Given the description of an element on the screen output the (x, y) to click on. 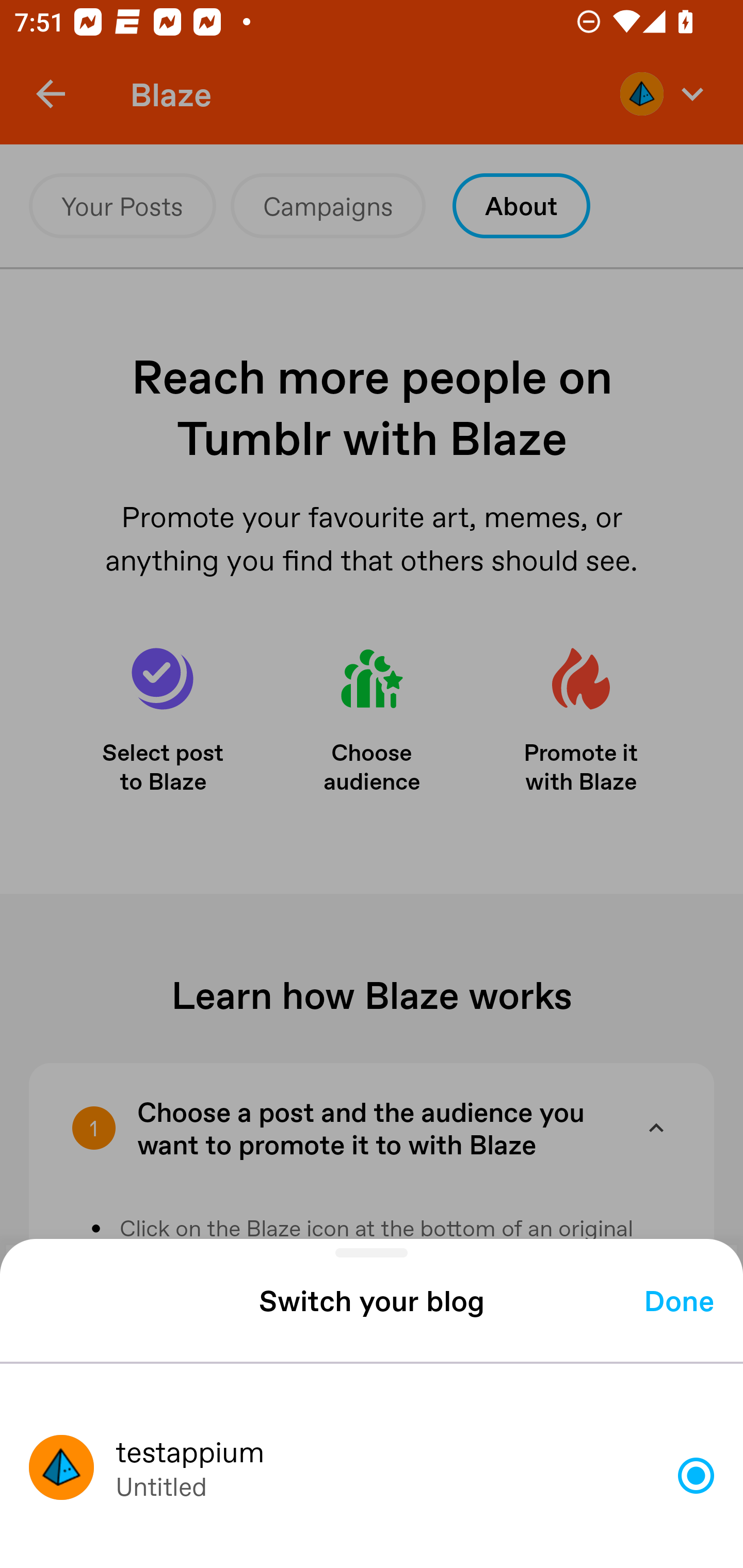
Done (679, 1300)
testappium Untitled (360, 1475)
